Given the description of an element on the screen output the (x, y) to click on. 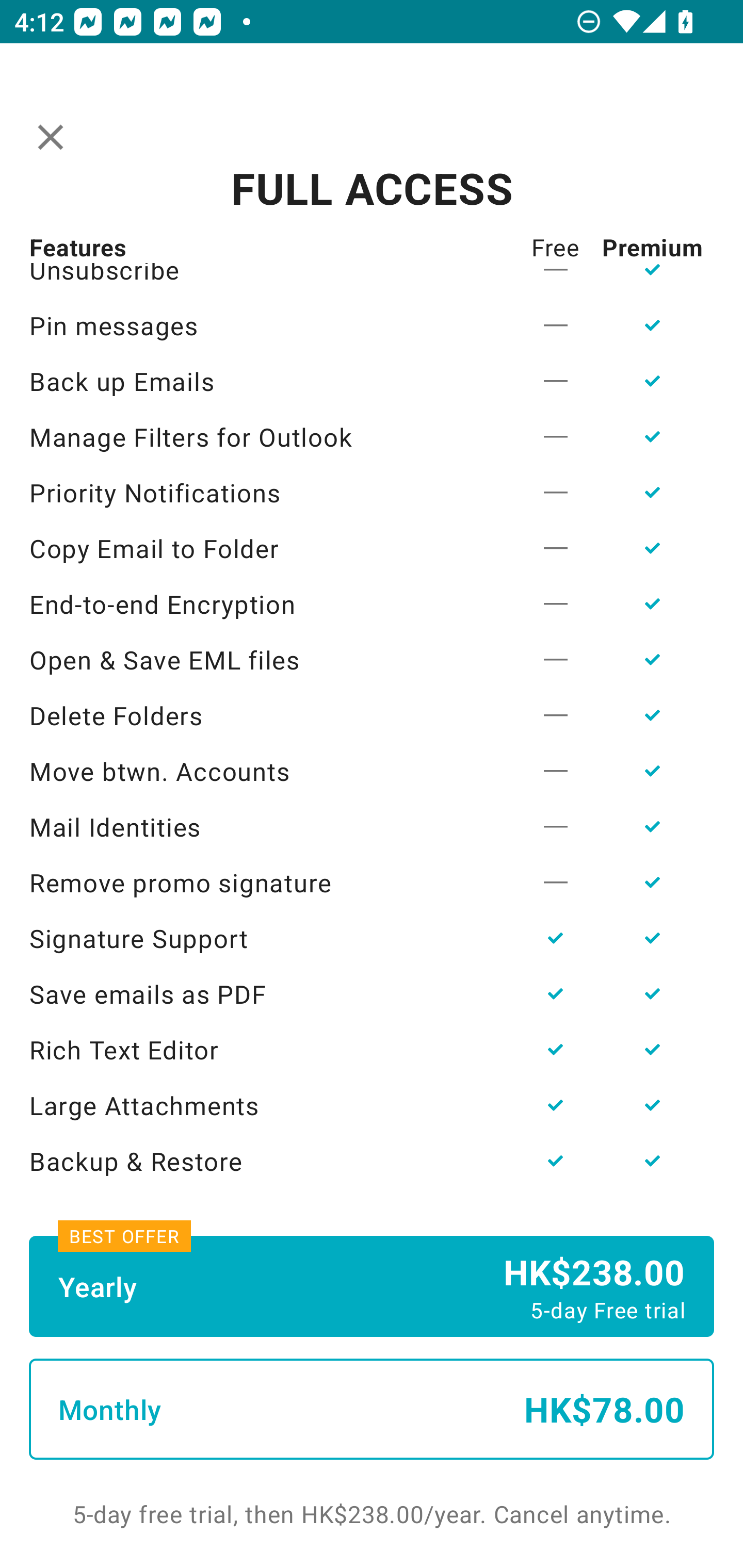
Yearly HK$238.00 5-day Free trial (371, 1286)
Monthly HK$78.00 (371, 1408)
